Given the description of an element on the screen output the (x, y) to click on. 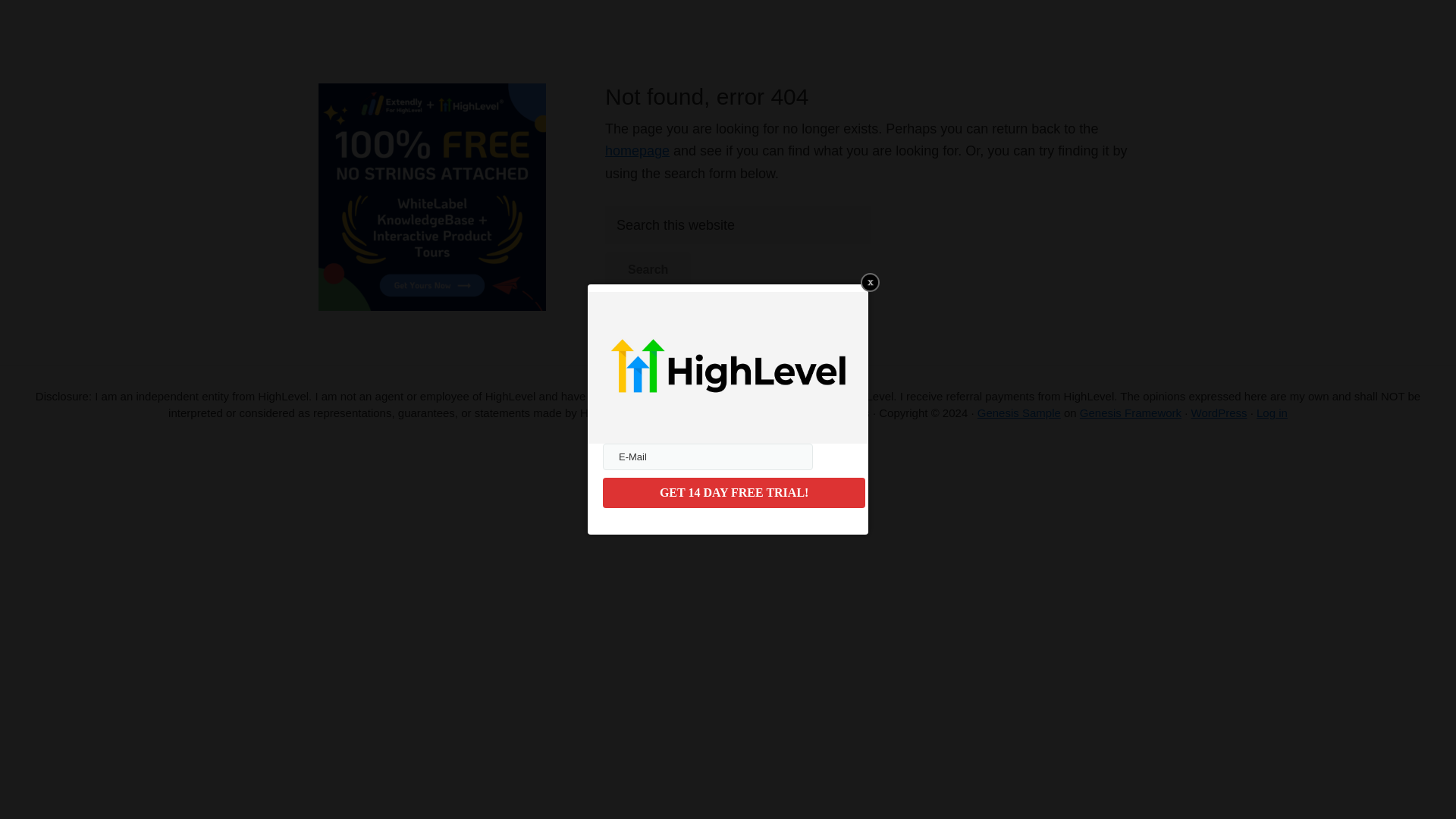
Search (647, 269)
Log in (1271, 412)
Genesis Sample (1018, 412)
WordPress (1219, 412)
Search (647, 269)
Genesis Framework (1130, 412)
homepage (637, 150)
Search (647, 269)
